Given the description of an element on the screen output the (x, y) to click on. 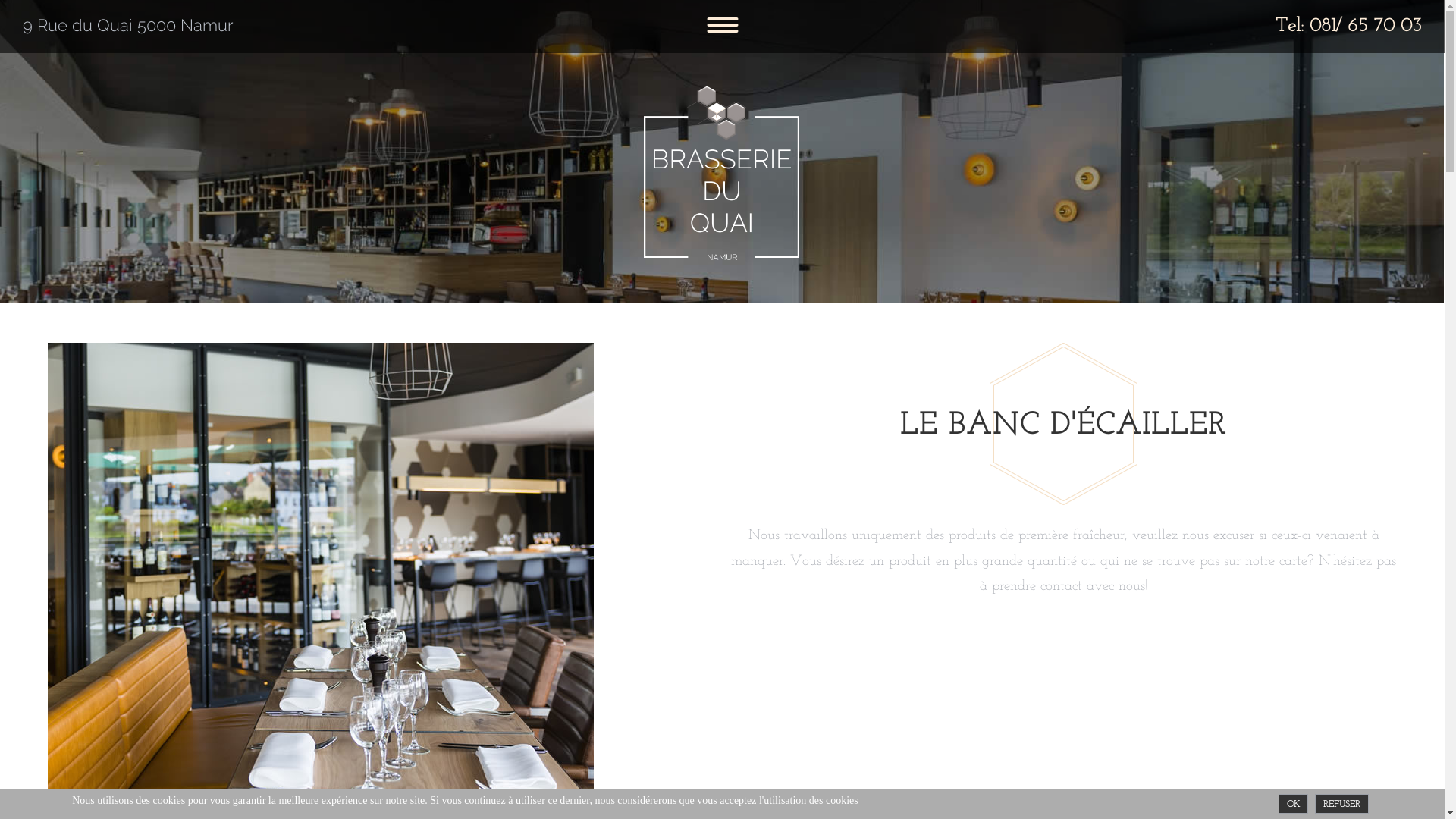
REFUSER Element type: text (1341, 803)
OK Element type: text (1293, 803)
9 Rue du Quai 5000 Namur Element type: text (127, 24)
